Given the description of an element on the screen output the (x, y) to click on. 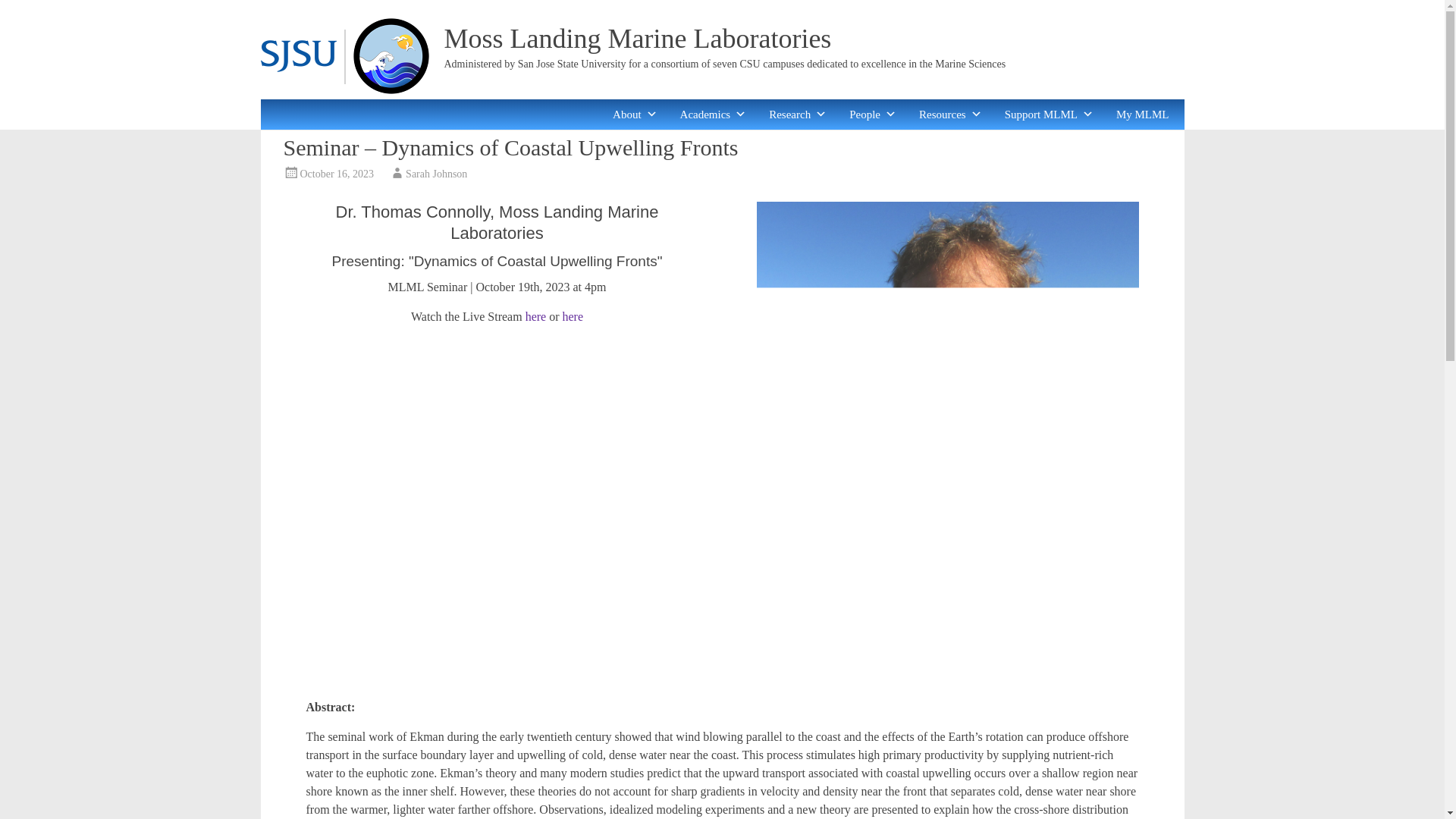
Moss Landing Marine Laboratories (637, 38)
Moss Landing Marine Laboratories (637, 38)
Academics (713, 114)
About (635, 114)
